Given the description of an element on the screen output the (x, y) to click on. 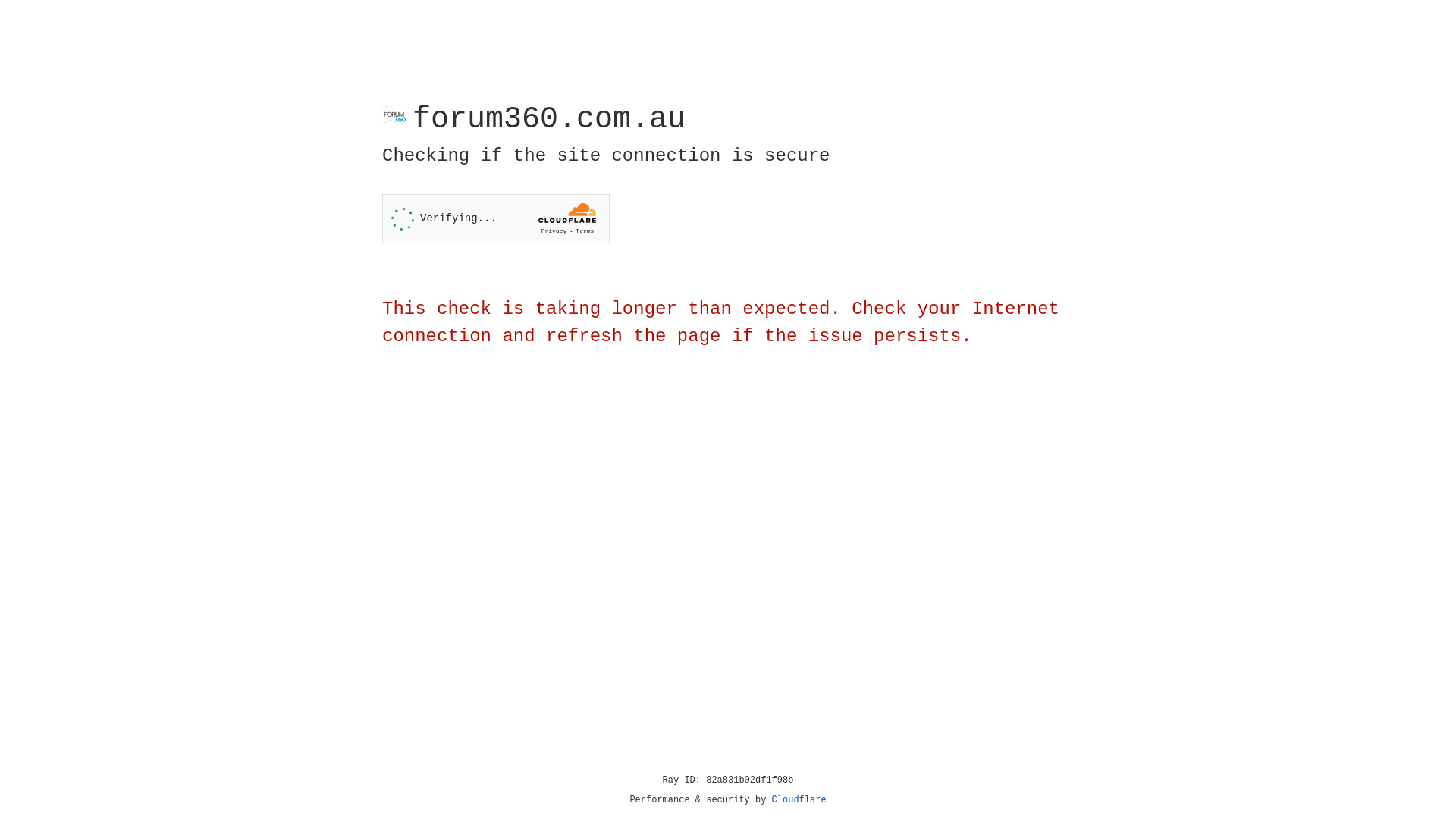
Cloudflare Element type: text (798, 799)
Widget containing a Cloudflare security challenge Element type: hover (495, 218)
